Given the description of an element on the screen output the (x, y) to click on. 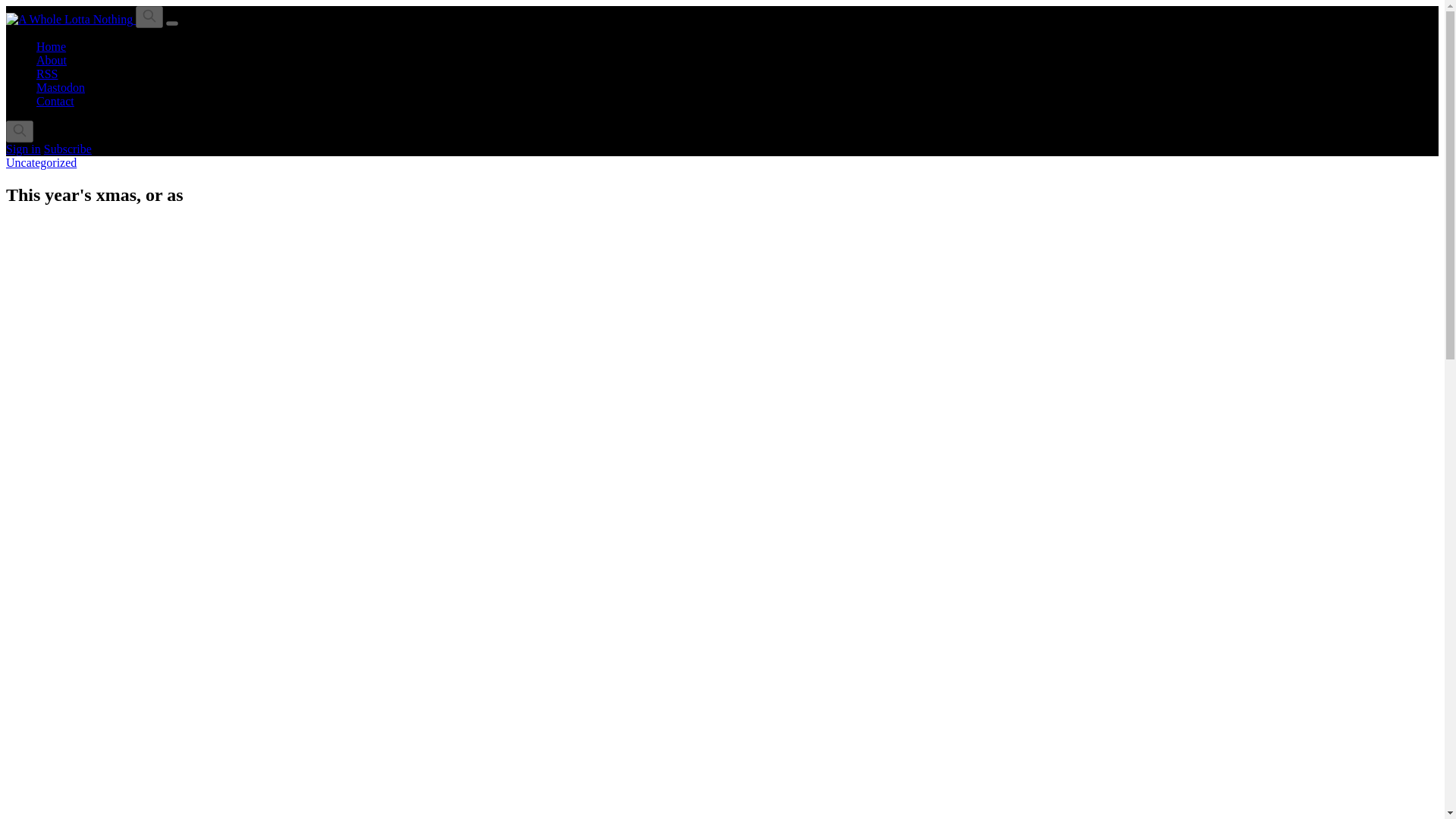
Home (50, 46)
Mastodon (60, 87)
Subscribe (67, 148)
About (51, 60)
RSS (47, 73)
Contact (55, 101)
Uncategorized (41, 162)
Sign in (22, 148)
